Given the description of an element on the screen output the (x, y) to click on. 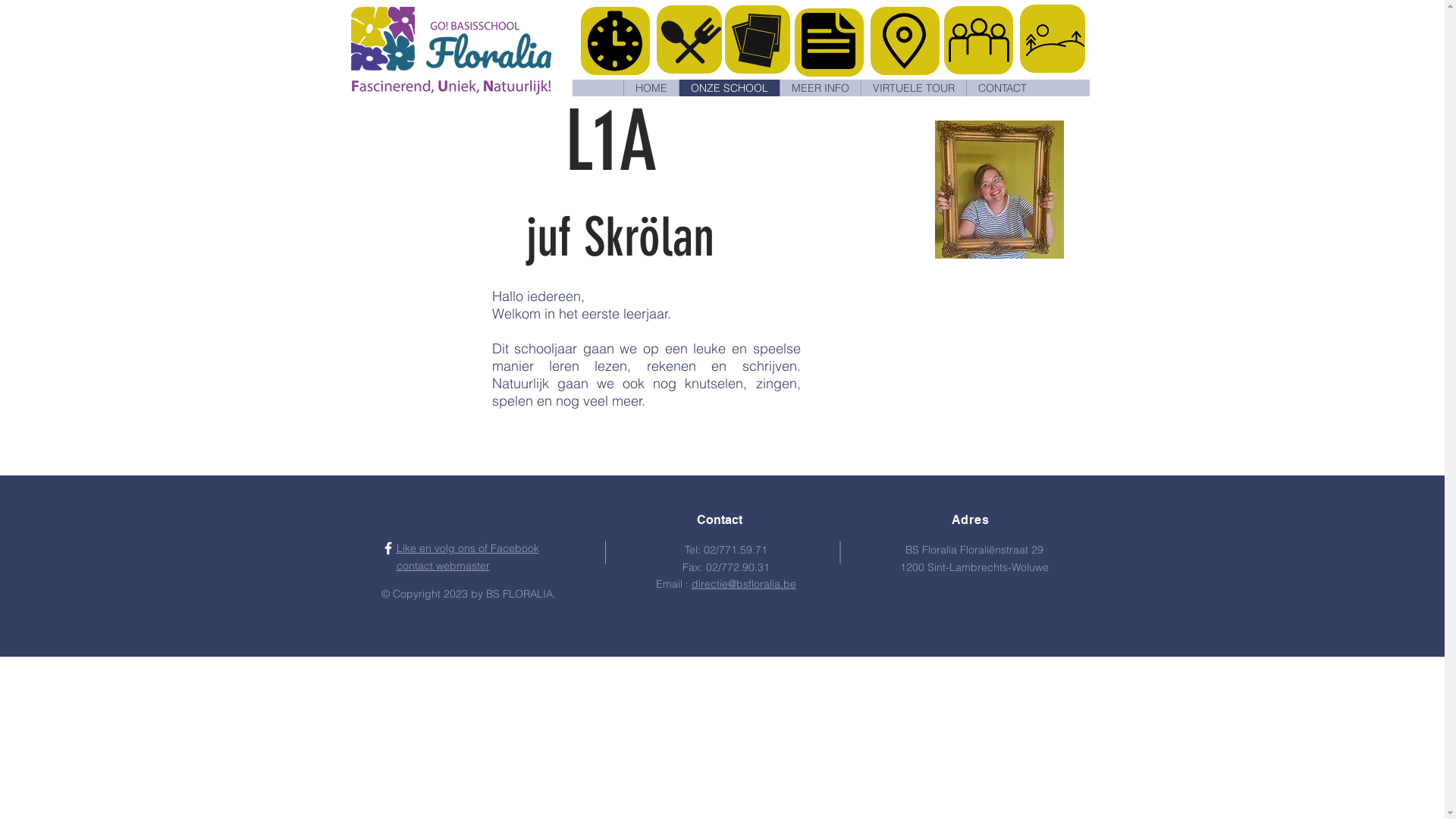
CONTACT Element type: text (1002, 87)
VIRTUELE TOUR Element type: text (913, 87)
ONZE SCHOOL Element type: text (728, 87)
HOME Element type: text (650, 87)
Kinderen krijgen les in een groene omgeving Element type: hover (450, 50)
contact webmaster Element type: text (442, 565)
Like en volg ons of Facebook Element type: text (466, 548)
MEER INFO Element type: text (819, 87)
directie@bsfloralia.be Element type: text (743, 583)
